Given the description of an element on the screen output the (x, y) to click on. 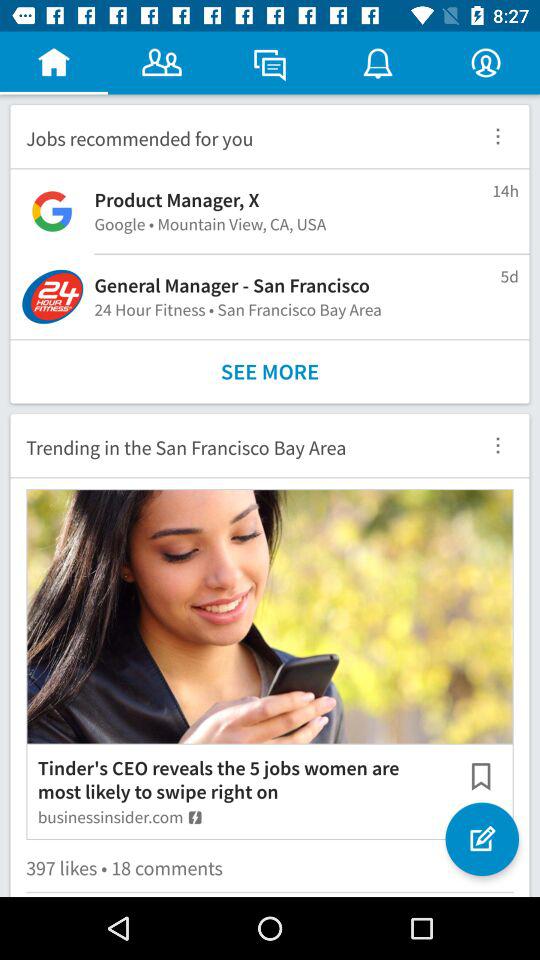
press item to the right of the tinder s ceo (480, 775)
